Given the description of an element on the screen output the (x, y) to click on. 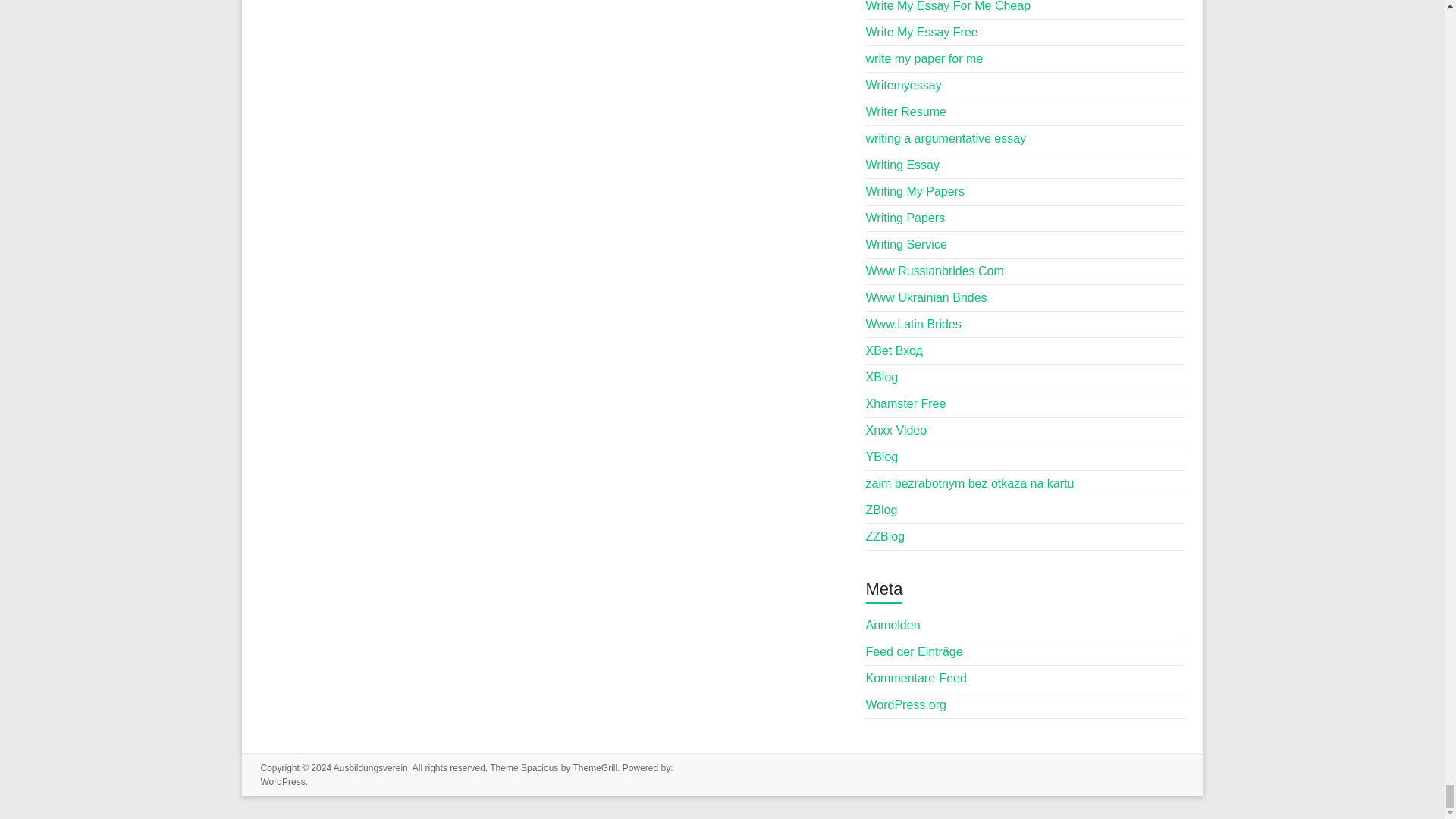
WordPress (282, 781)
Spacious (539, 767)
Ausbildungsverein (370, 767)
